Given the description of an element on the screen output the (x, y) to click on. 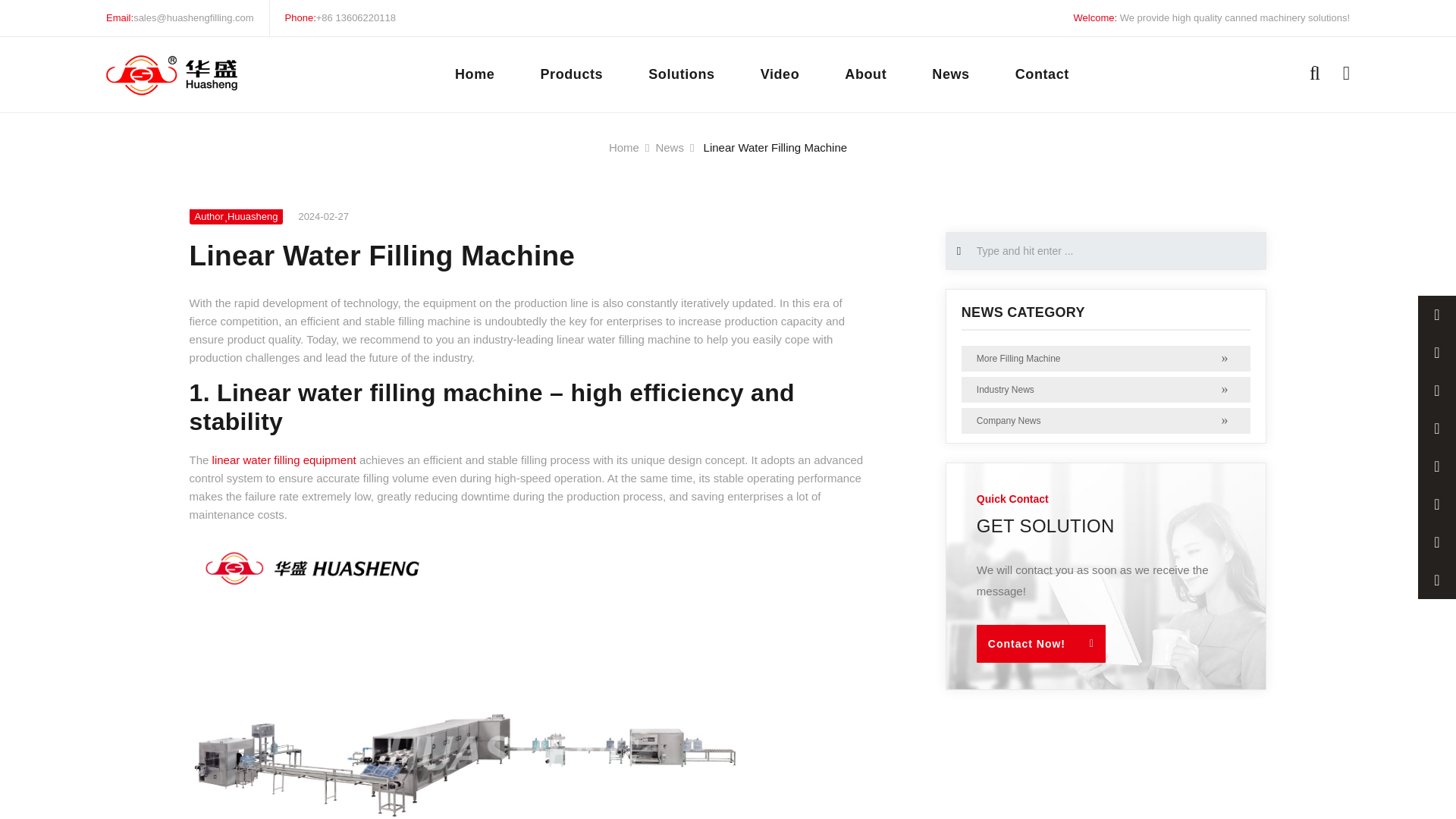
Solutions (681, 74)
Products (571, 74)
Home (623, 146)
Contact (1042, 74)
